Given the description of an element on the screen output the (x, y) to click on. 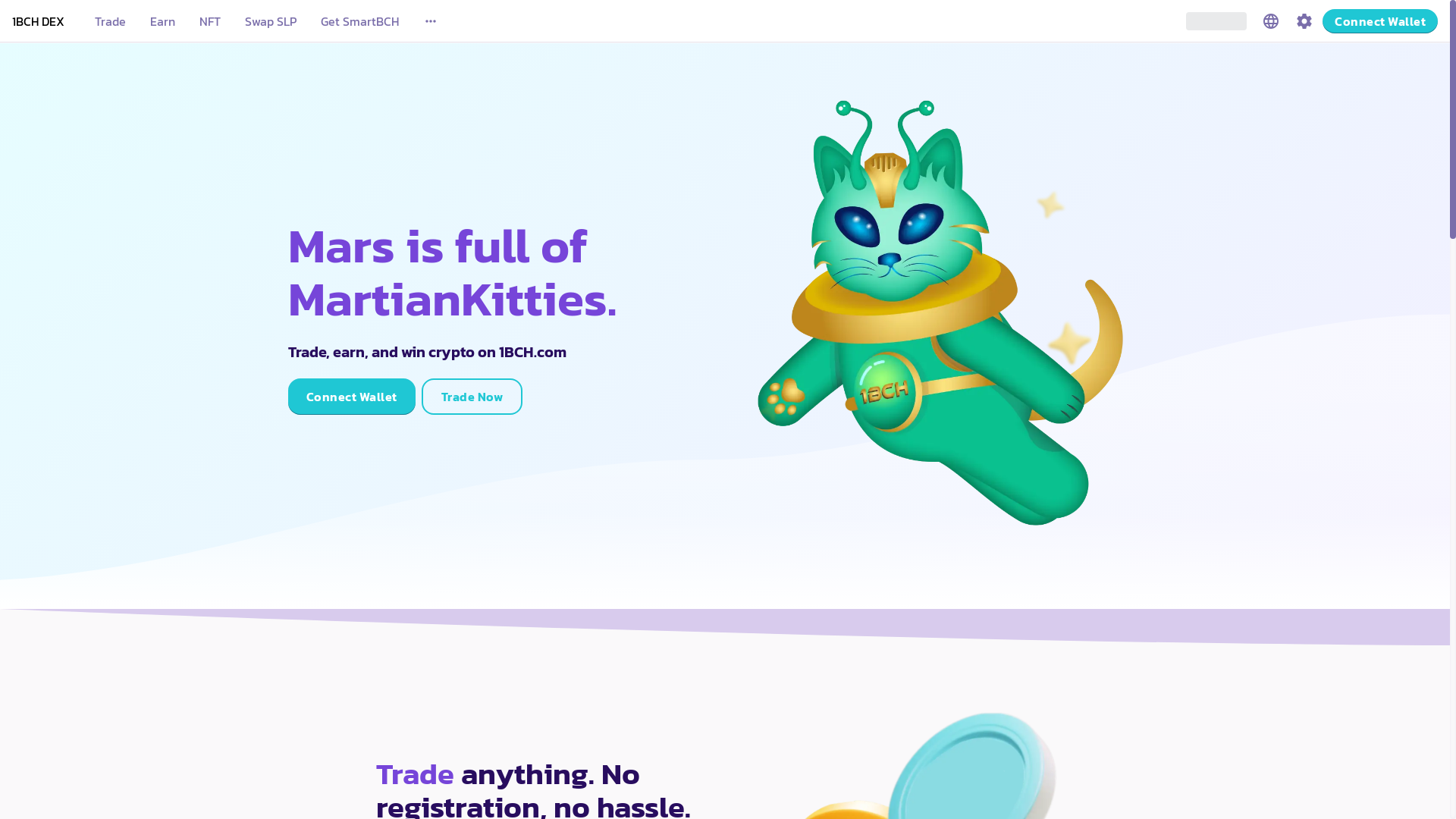
1BCH DEX Element type: text (38, 21)
NFT Element type: text (209, 21)
Trade Element type: text (110, 21)
Get SmartBCH Element type: text (359, 21)
Connect Wallet Element type: text (351, 396)
Trade Now Element type: text (471, 396)
Earn Element type: text (162, 21)
Swap SLP Element type: text (270, 21)
Connect Wallet Element type: text (1379, 21)
